Given the description of an element on the screen output the (x, y) to click on. 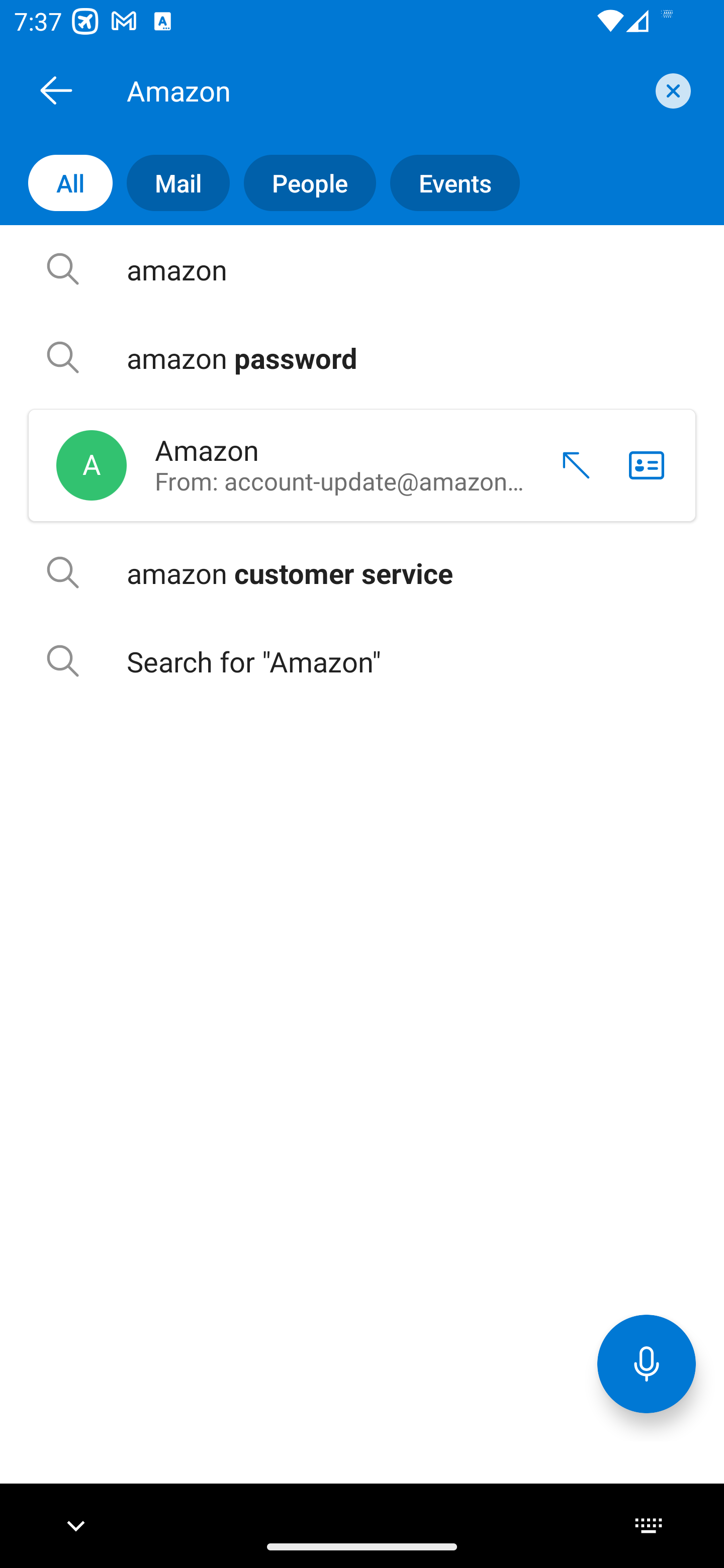
Back (55, 89)
Amazon (384, 89)
clear search (670, 90)
Mail (170, 183)
People (302, 183)
Events (447, 183)
Suggested search , Text, amazon amazon (362, 269)
Contact elevation (569, 465)
Contact Details (646, 465)
Voice Assistant (646, 1362)
